Given the description of an element on the screen output the (x, y) to click on. 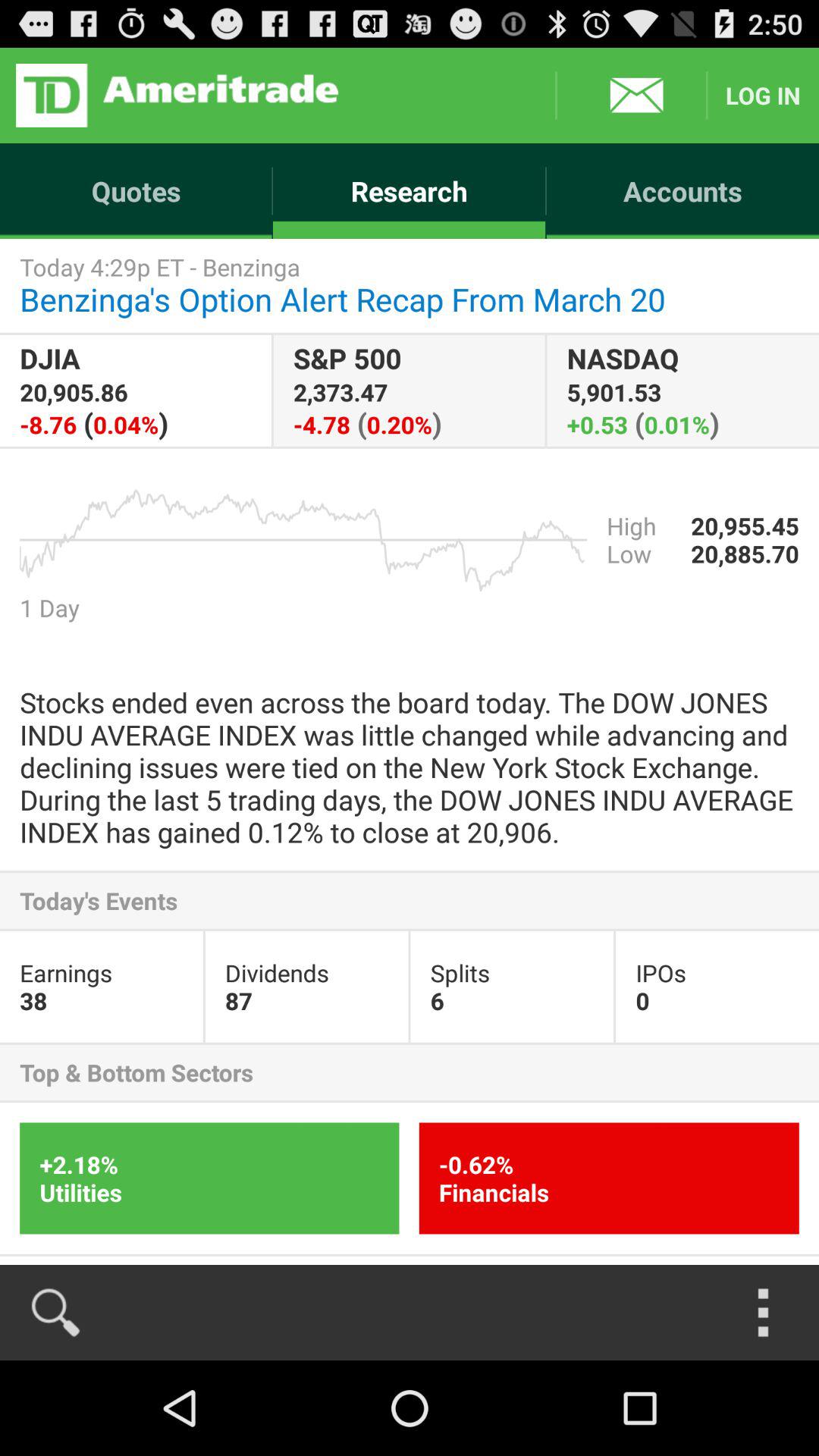
open app to the left of the accounts app (409, 190)
